Given the description of an element on the screen output the (x, y) to click on. 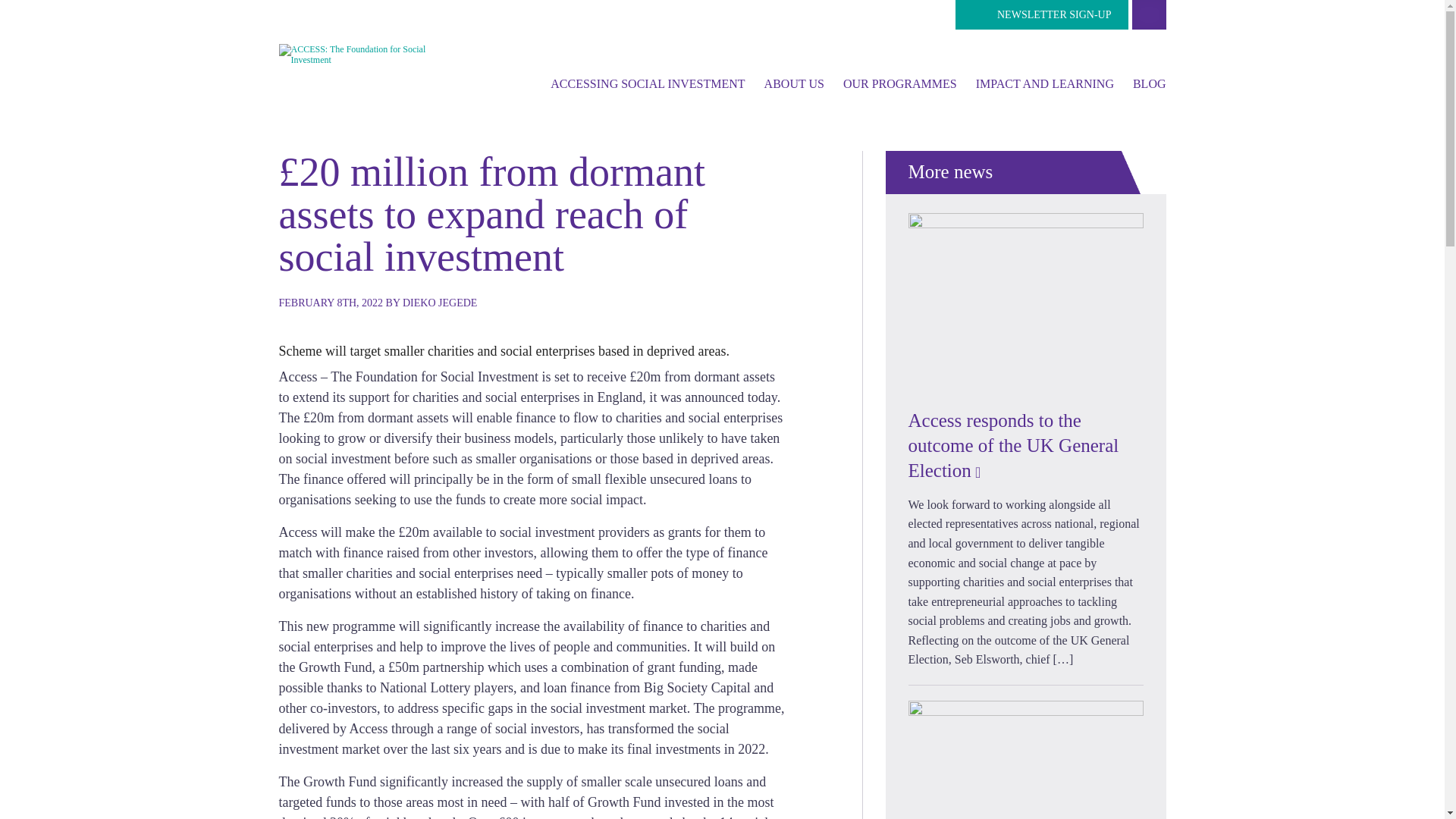
go to homepage (352, 53)
OUR PROGRAMMES (899, 83)
Search (1148, 14)
ABOUT US (794, 83)
ACCESSING SOCIAL INVESTMENT (647, 83)
NEWSLETTER SIGN-UP (1041, 14)
